Given the description of an element on the screen output the (x, y) to click on. 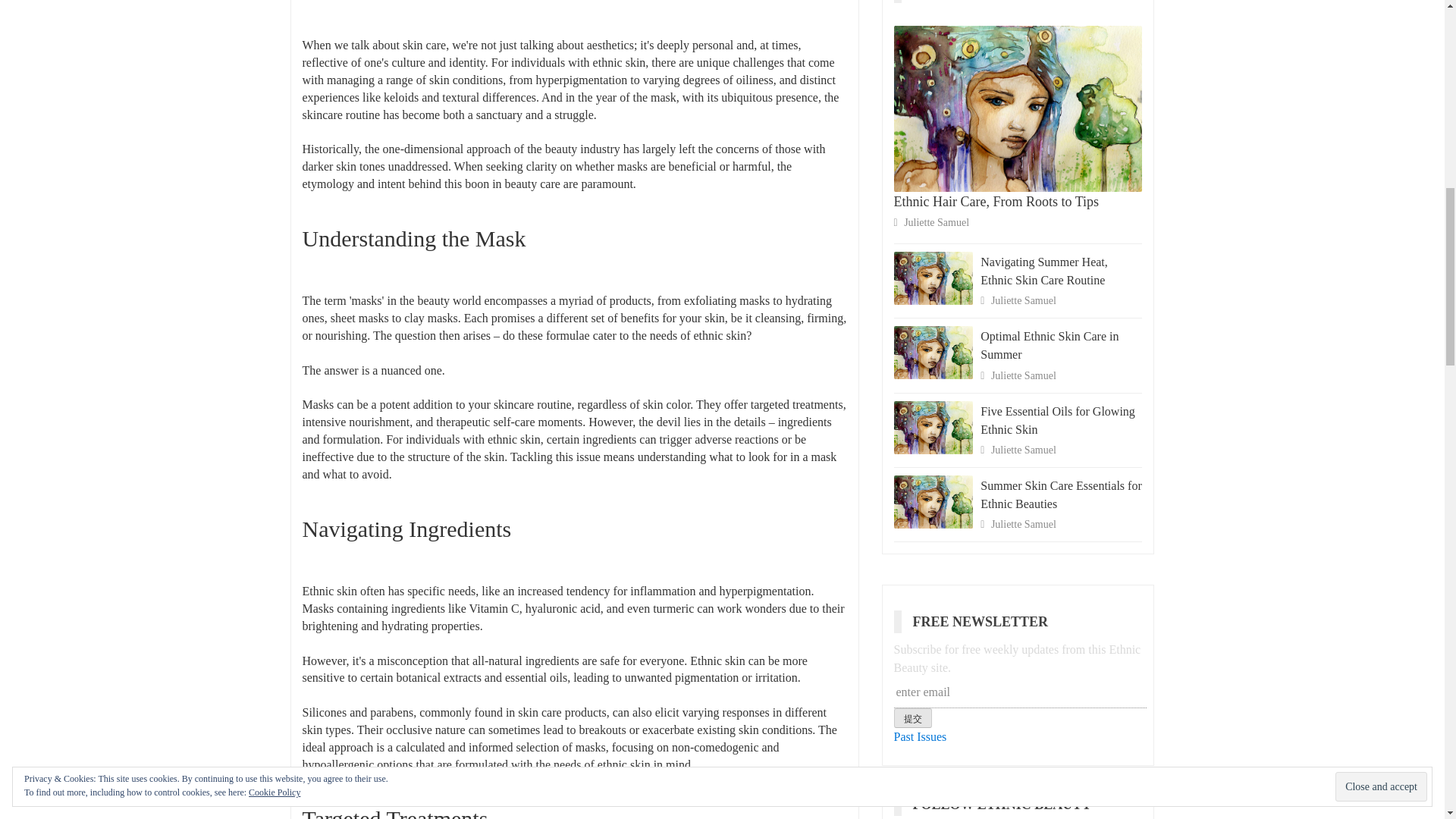
enter email (1020, 692)
